Given the description of an element on the screen output the (x, y) to click on. 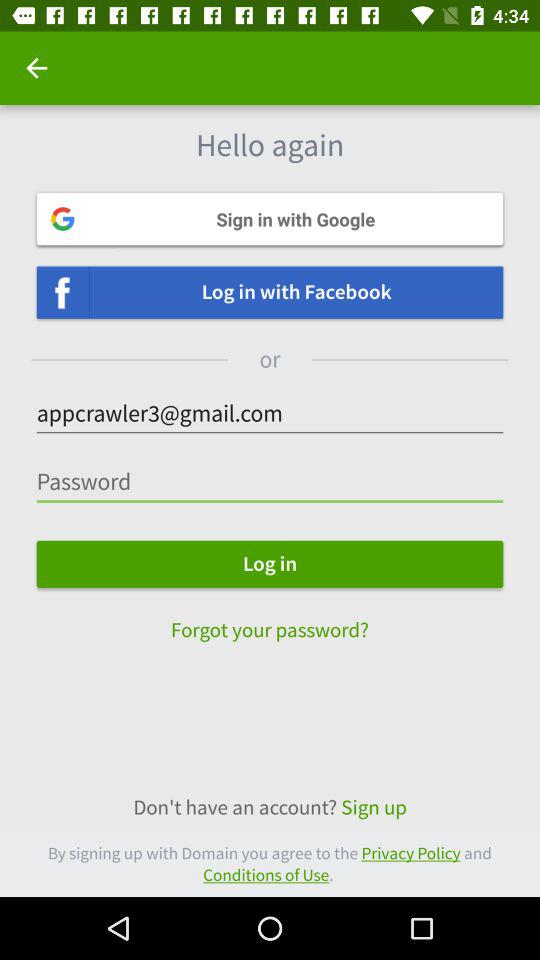
select the item above the hello again item (36, 68)
